Given the description of an element on the screen output the (x, y) to click on. 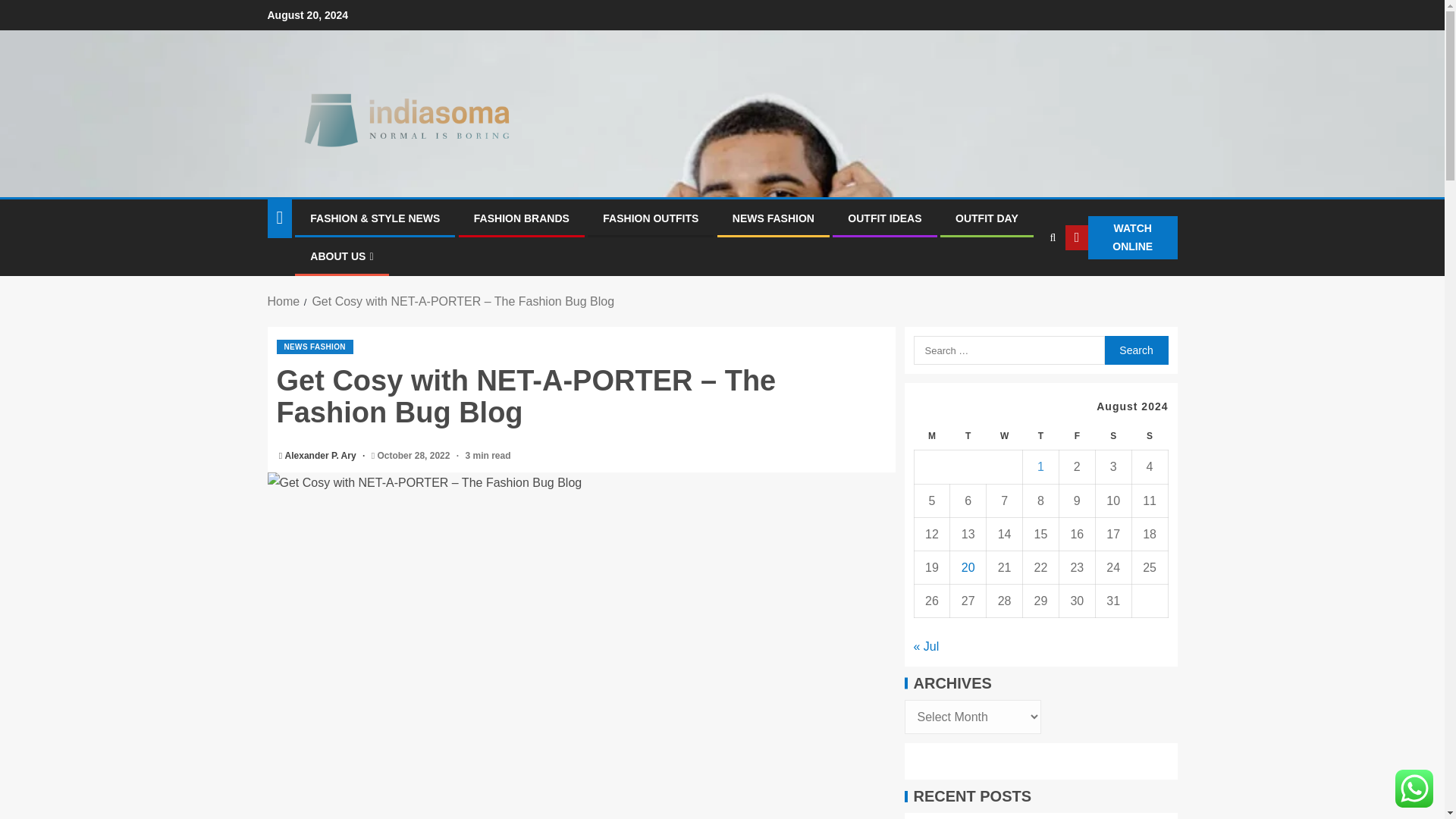
ABOUT US (341, 256)
Alexander P. Ary (321, 455)
Friday (1076, 436)
Search (1135, 349)
Thursday (1041, 436)
NEWS FASHION (314, 346)
OUTFIT IDEAS (884, 218)
Saturday (1112, 436)
FASHION OUTFITS (650, 218)
Search (1135, 349)
